Given the description of an element on the screen output the (x, y) to click on. 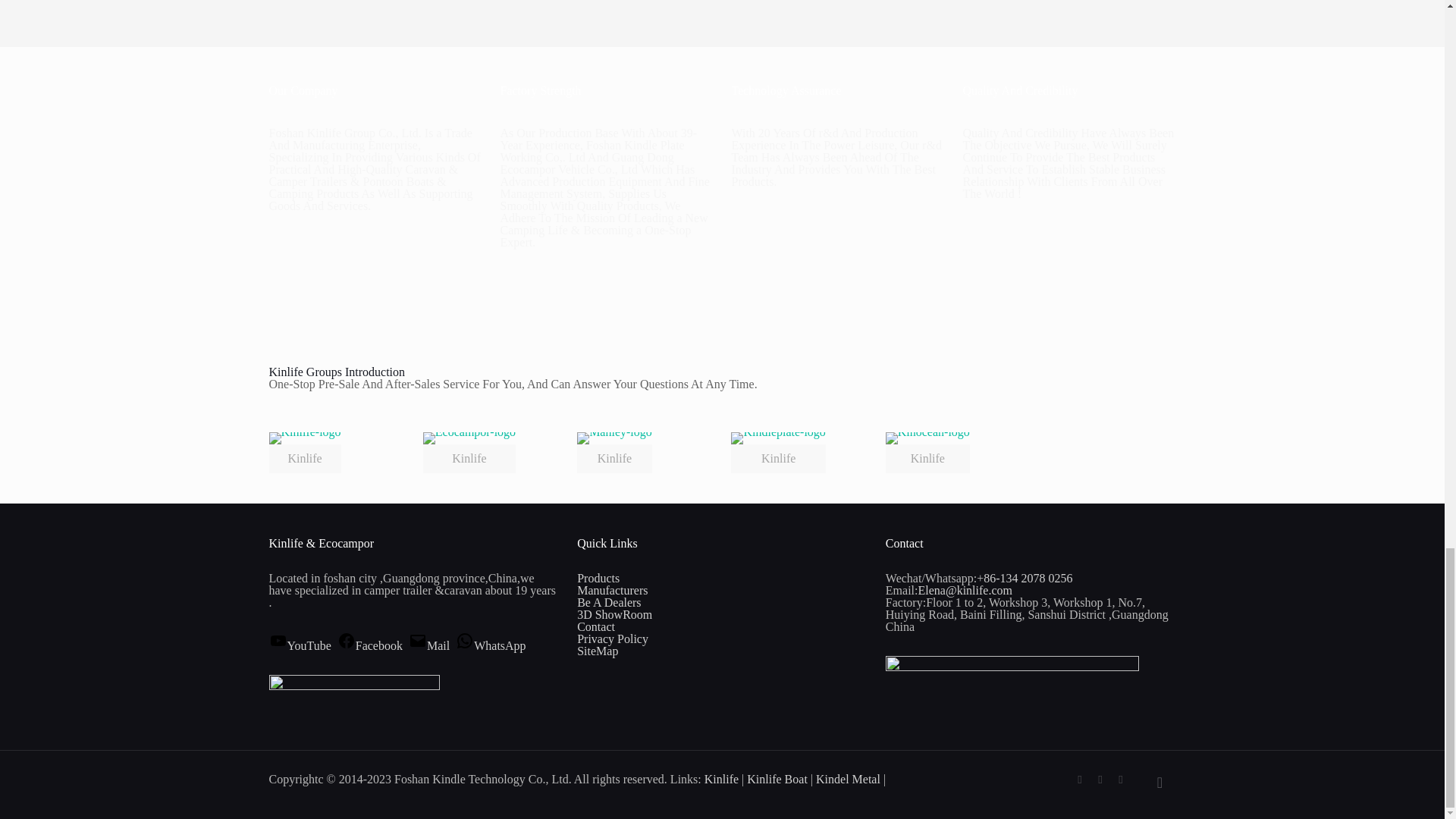
WhatsApp (1079, 779)
Facebook (1100, 779)
YouTube (1121, 779)
